Given the description of an element on the screen output the (x, y) to click on. 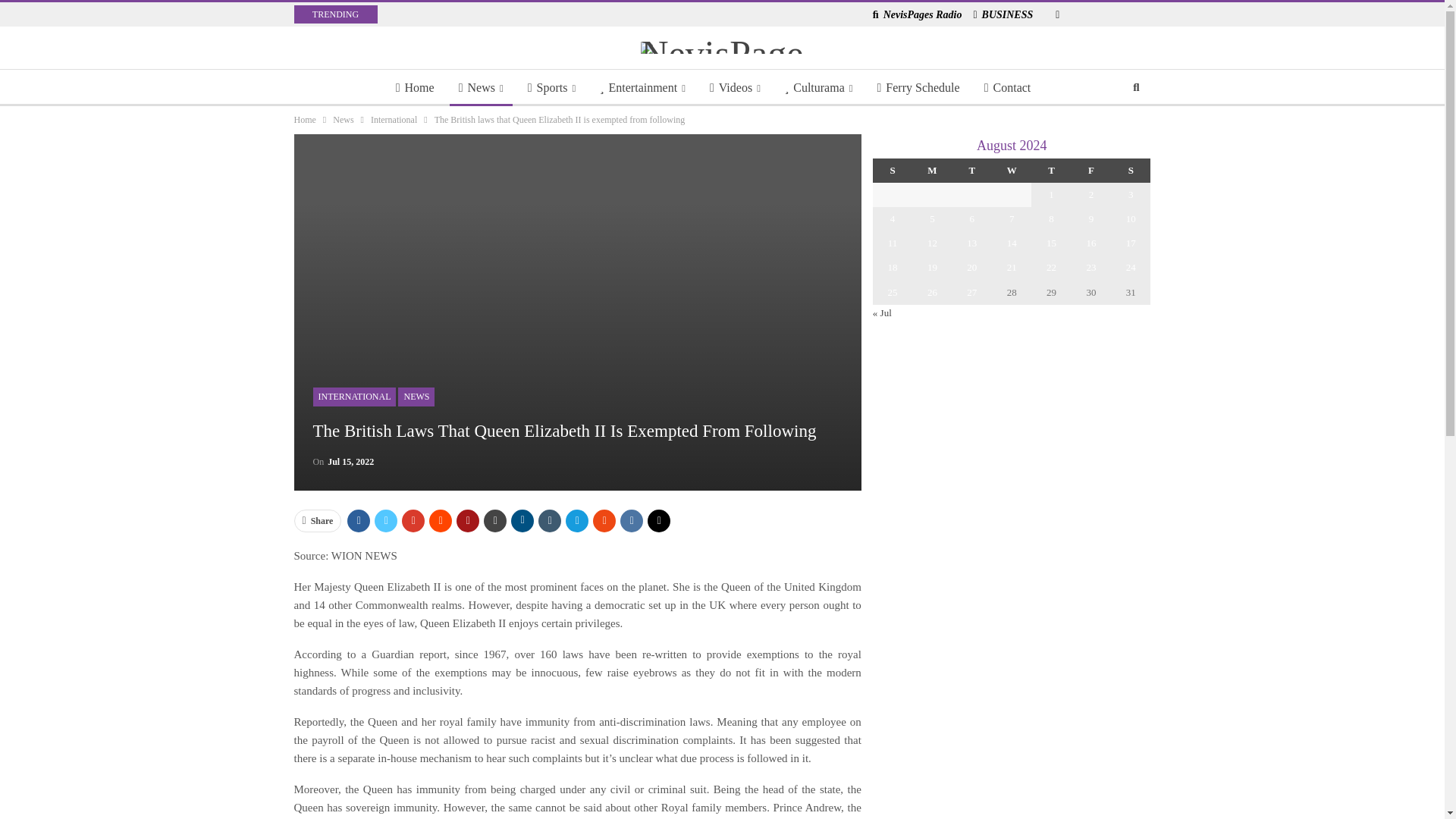
Home (415, 87)
News (480, 87)
BUSINESS (1002, 14)
NevisPages Radio (917, 14)
